Given the description of an element on the screen output the (x, y) to click on. 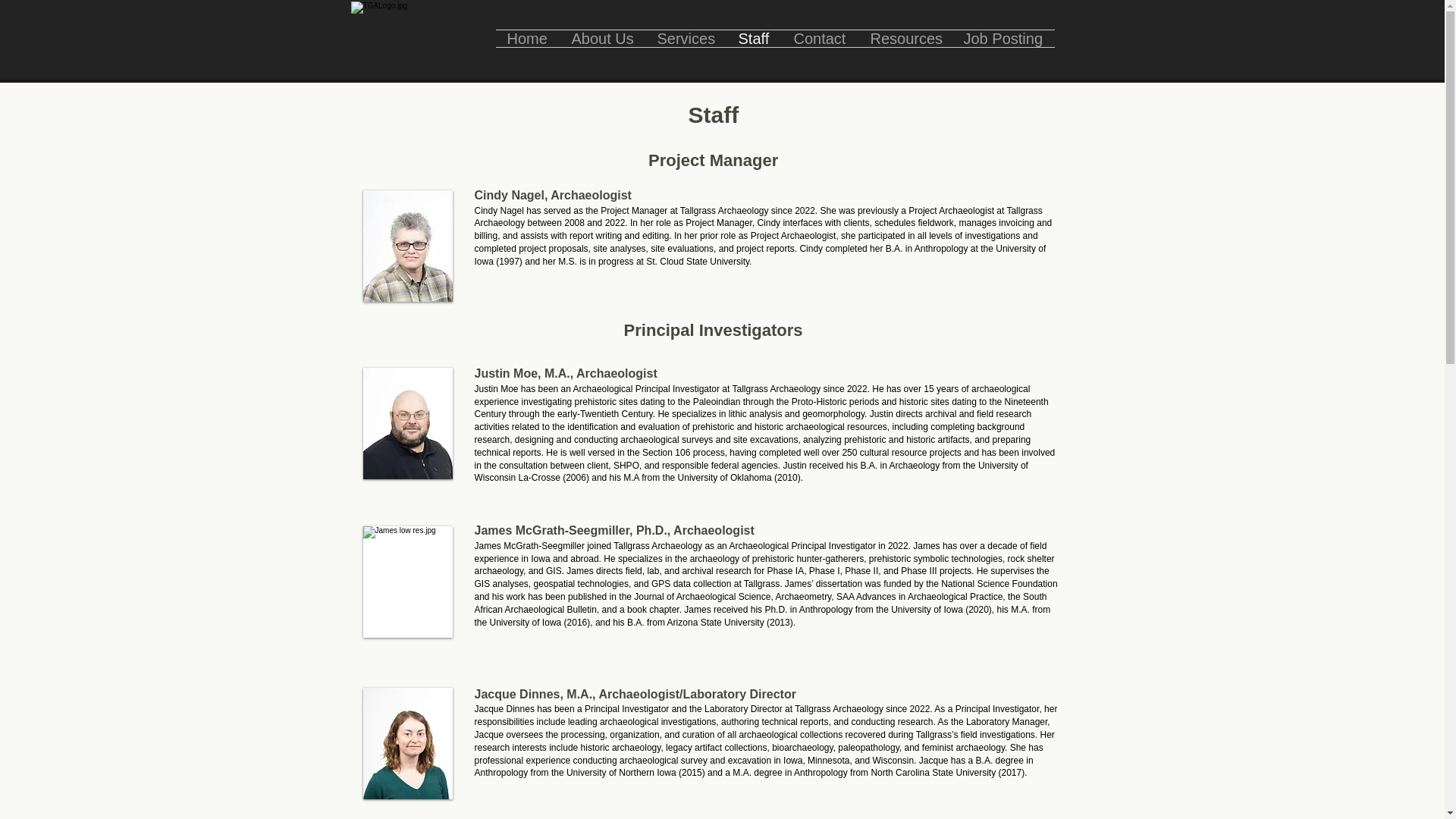
Resources (905, 38)
Home (528, 38)
Job Posting (1003, 38)
Services (686, 38)
Contact (821, 38)
Staff (753, 38)
About Us (602, 38)
